Given the description of an element on the screen output the (x, y) to click on. 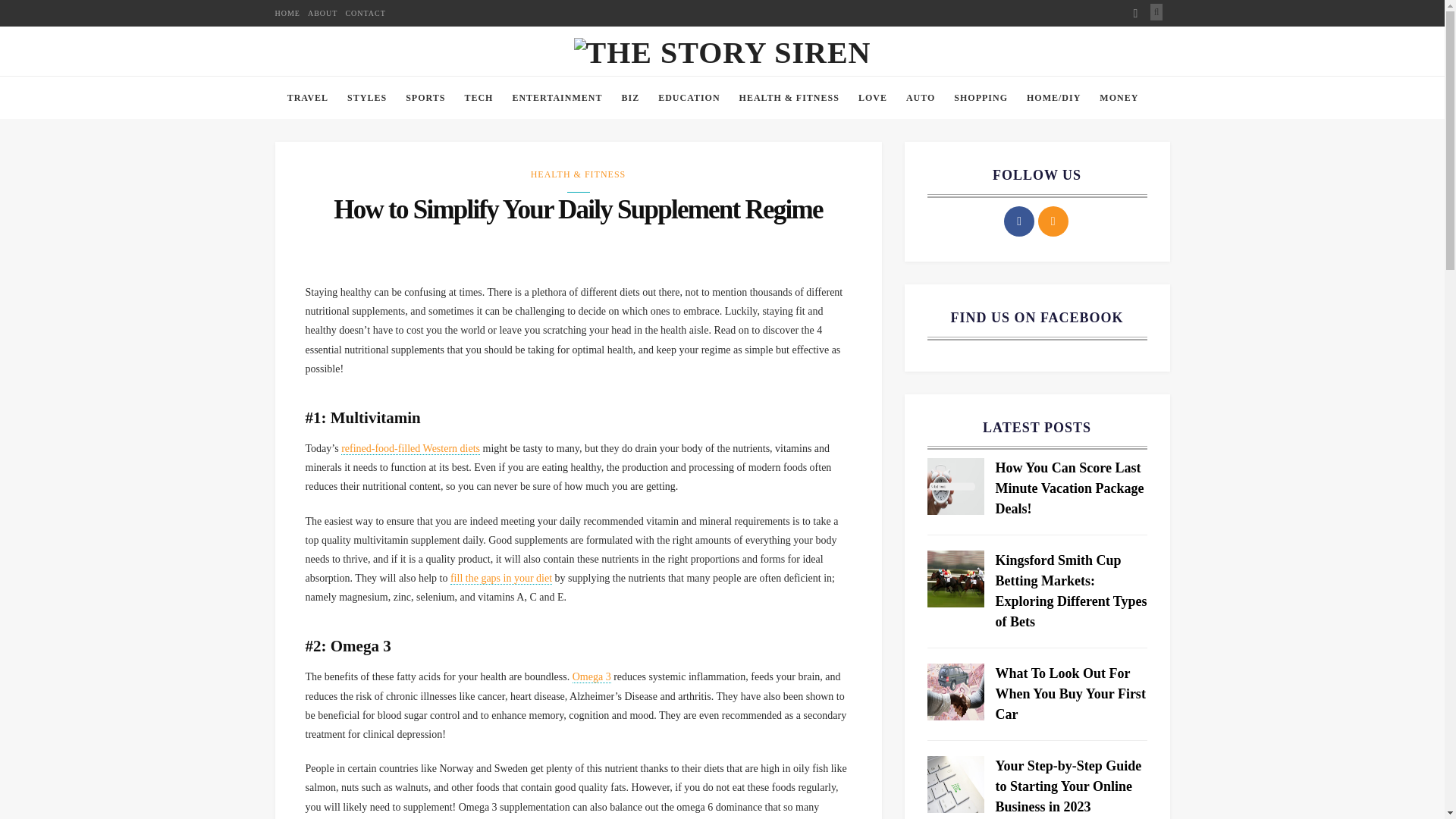
TRAVEL (307, 97)
ABOUT (322, 13)
CONTACT (365, 13)
HOME (287, 13)
